Given the description of an element on the screen output the (x, y) to click on. 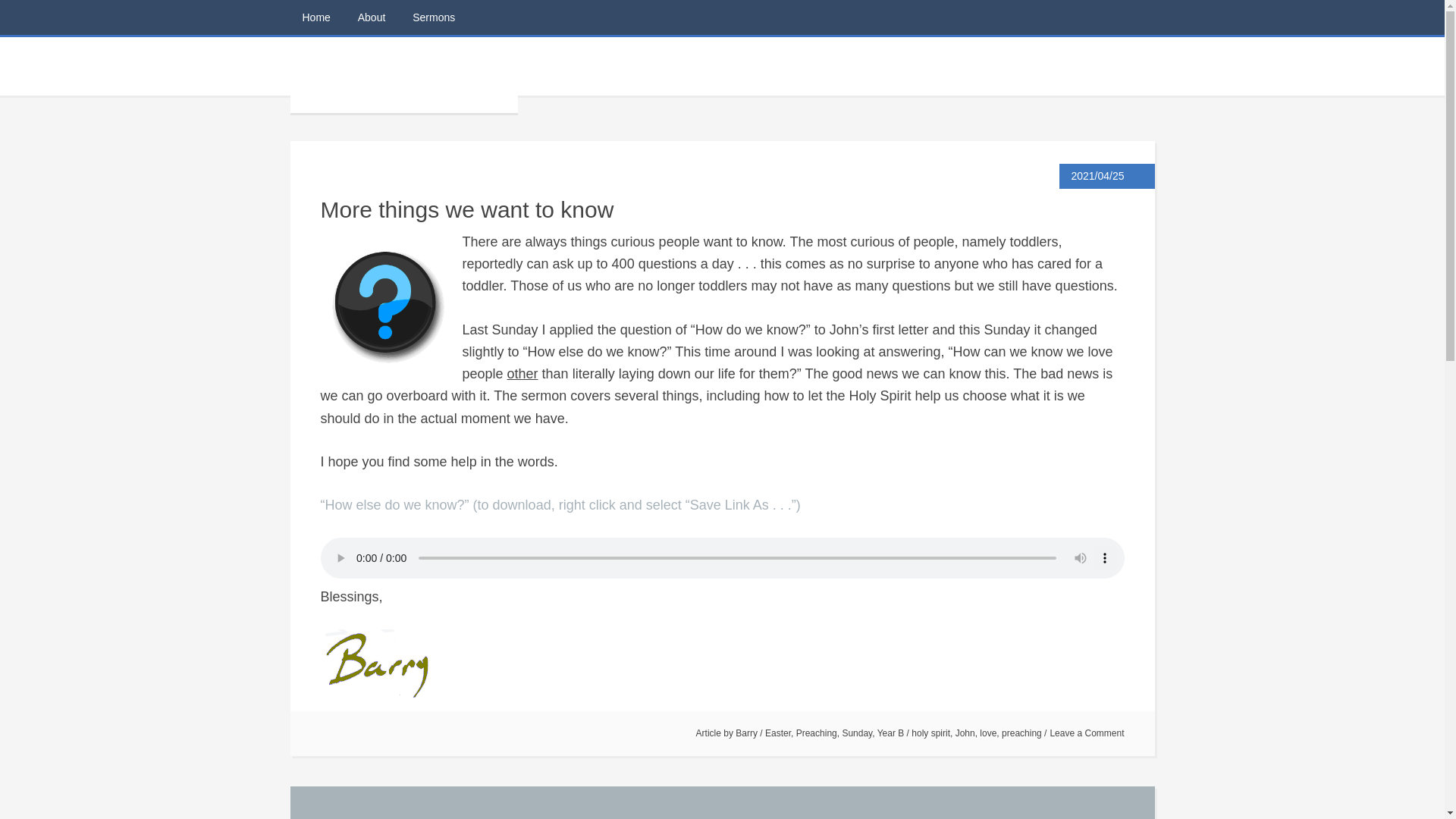
holy spirit (930, 733)
WORDS FROM THE MIDDLE (402, 74)
Sunday (856, 733)
Preaching (816, 733)
Year B (890, 733)
Barry (746, 733)
Sermons (433, 17)
love (987, 733)
John (965, 733)
preaching (1021, 733)
